Given the description of an element on the screen output the (x, y) to click on. 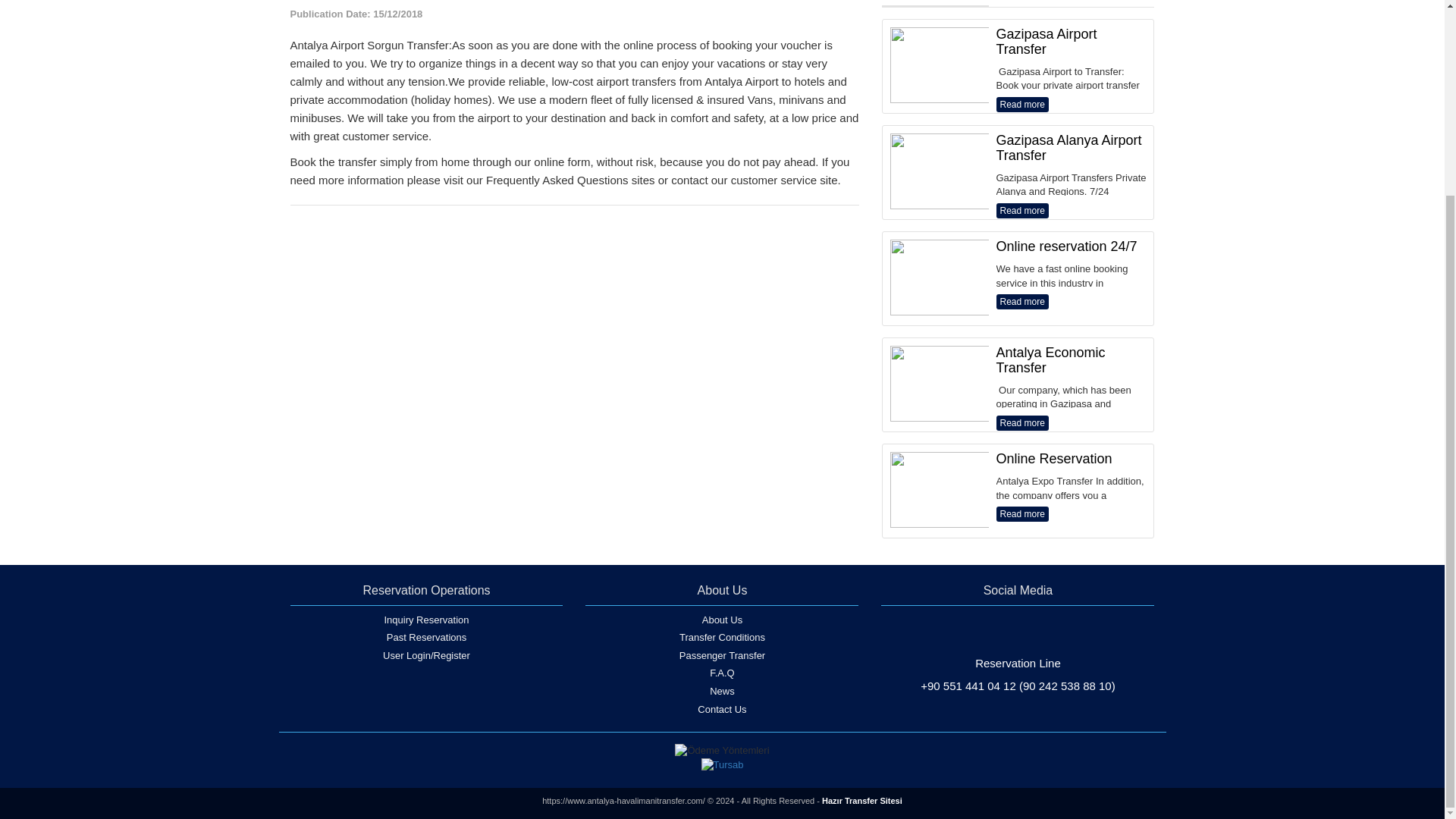
F.A.Q (722, 675)
Read more (1021, 301)
Passenger Transfer (722, 658)
Contact Us (722, 711)
News (722, 693)
Read more (1021, 422)
Inquiry Reservation (425, 622)
Past Reservations (425, 639)
Read more (1021, 104)
Read more (1021, 210)
